Given the description of an element on the screen output the (x, y) to click on. 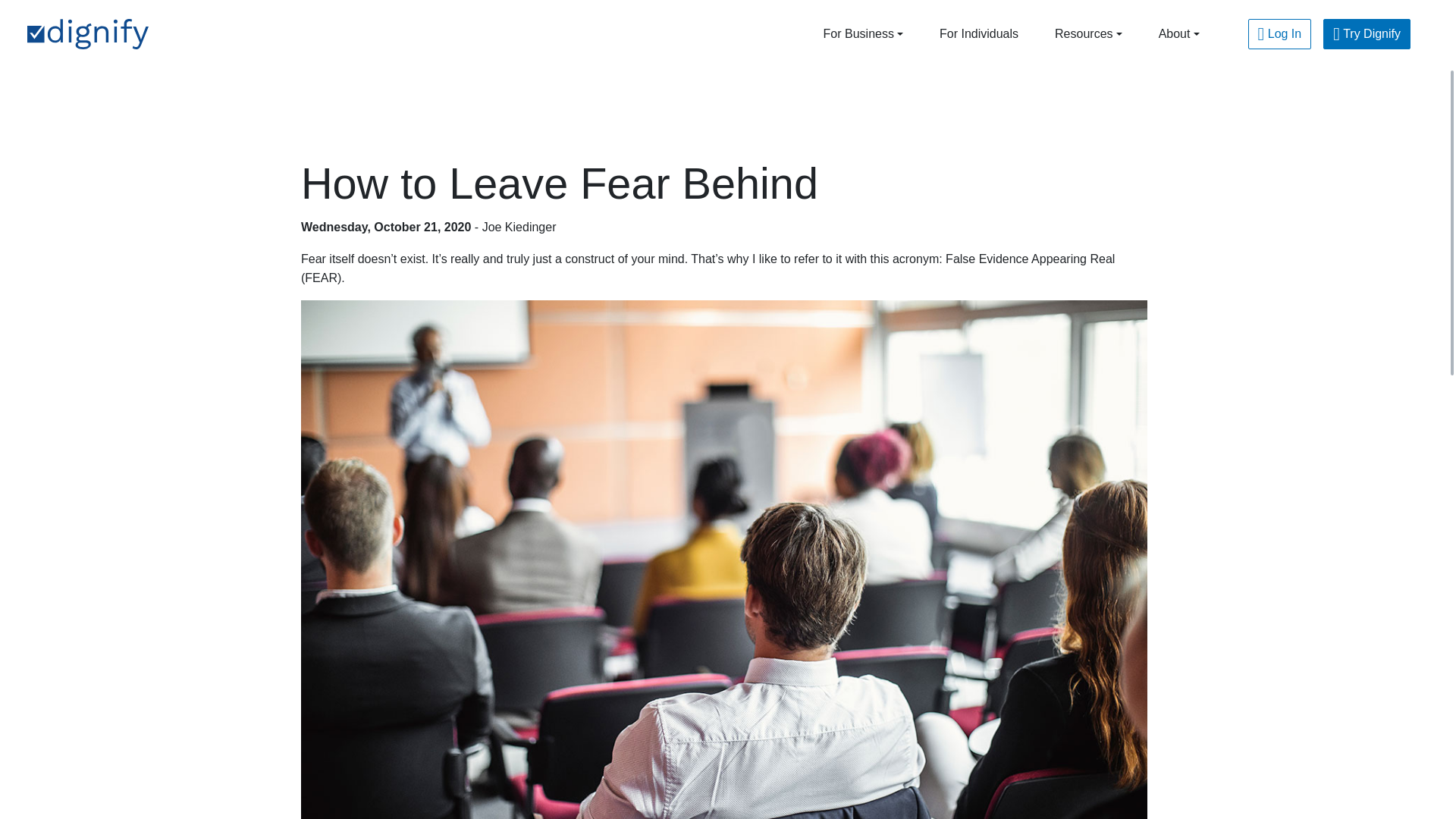
About (1178, 33)
Try Dignify (1366, 33)
For Business (863, 33)
Resources (1088, 33)
For Individuals (978, 33)
Log In (1279, 33)
